Given the description of an element on the screen output the (x, y) to click on. 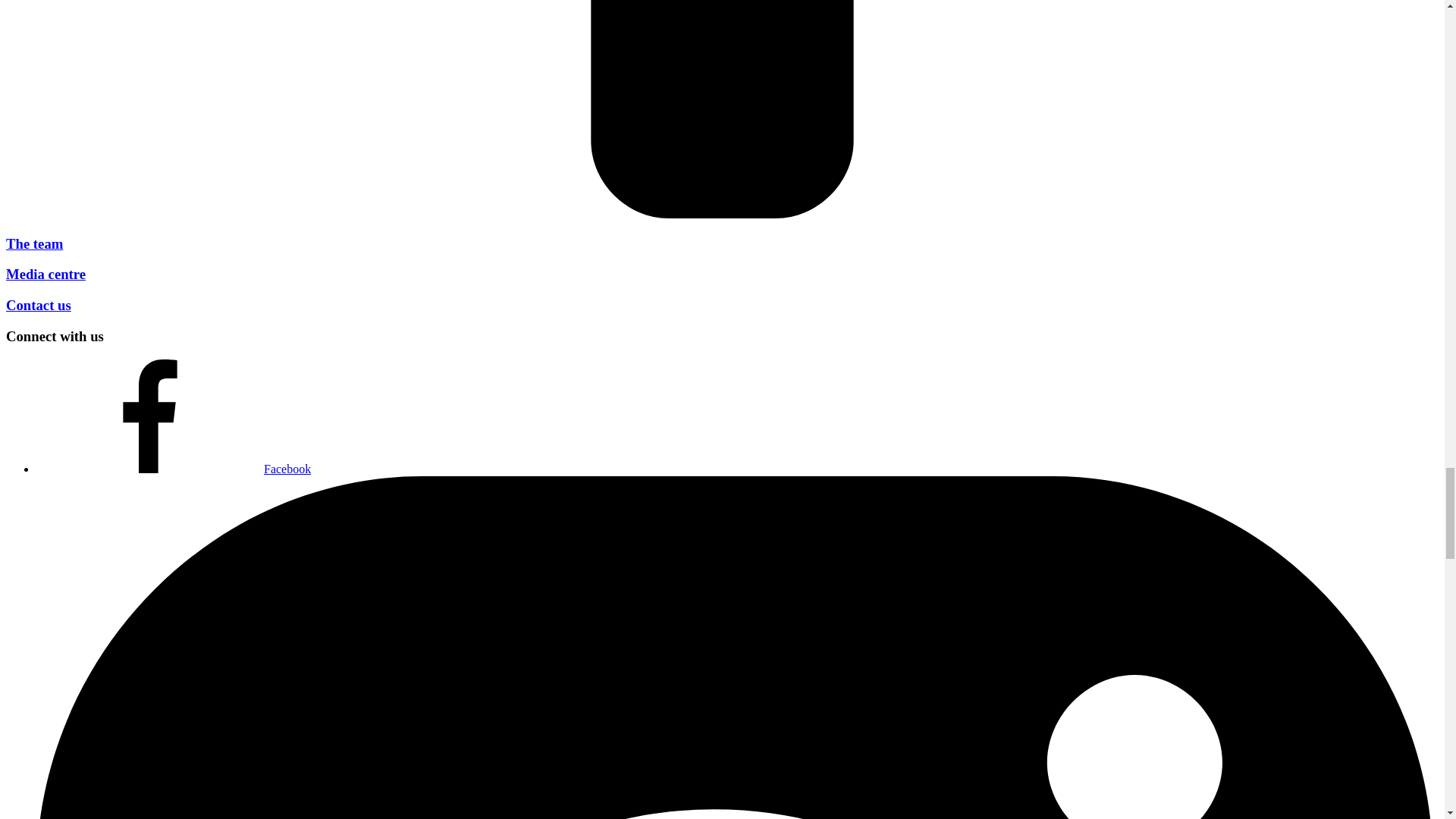
Facebook (173, 468)
The team (33, 243)
Contact us (38, 304)
Media centre (45, 273)
